Given the description of an element on the screen output the (x, y) to click on. 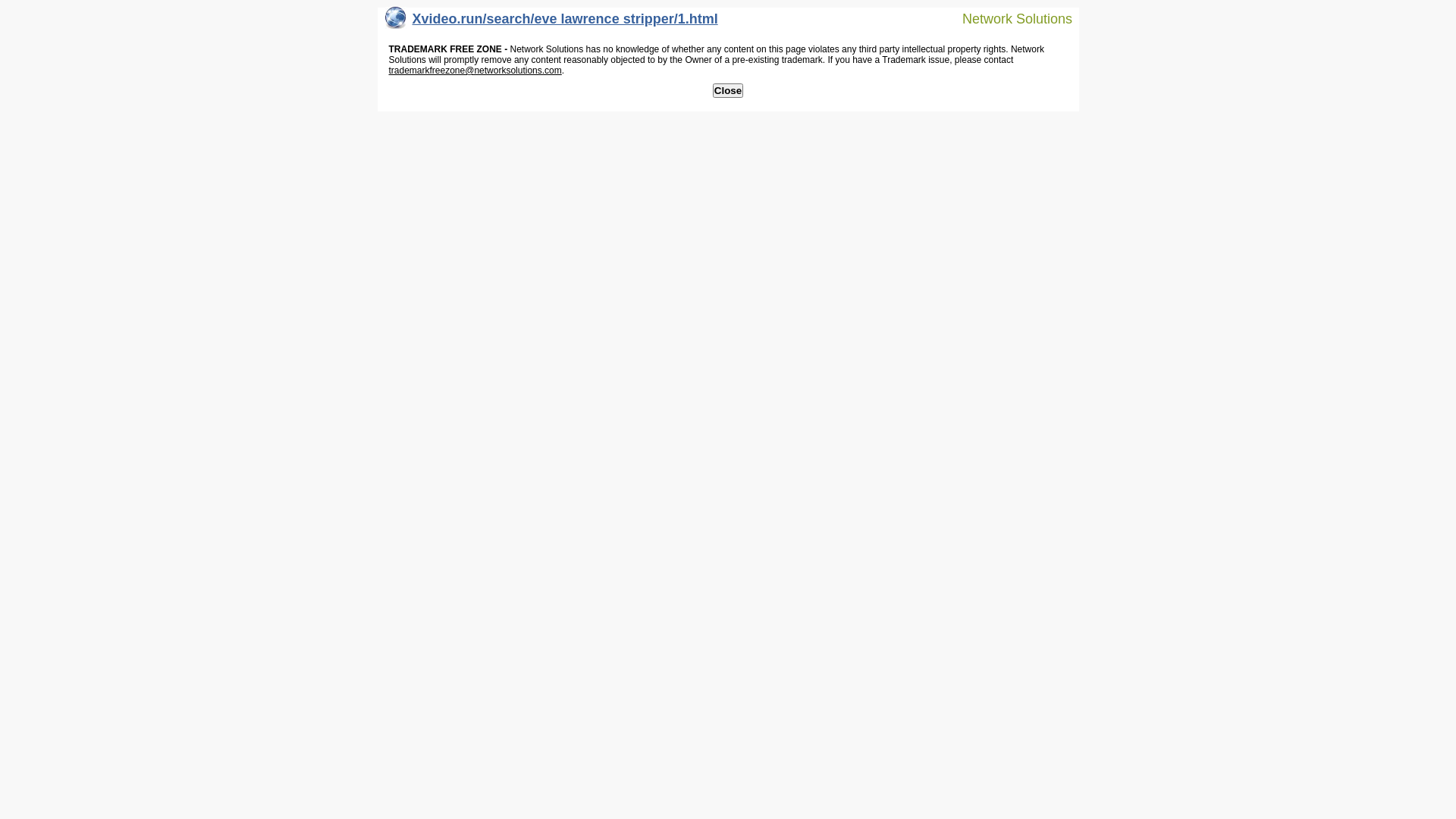
Xvideo.run/search/eve lawrence stripper/1.html Element type: text (551, 21)
Network Solutions Element type: text (1007, 17)
trademarkfreezone@networksolutions.com Element type: text (474, 70)
Close Element type: text (727, 90)
